Given the description of an element on the screen output the (x, y) to click on. 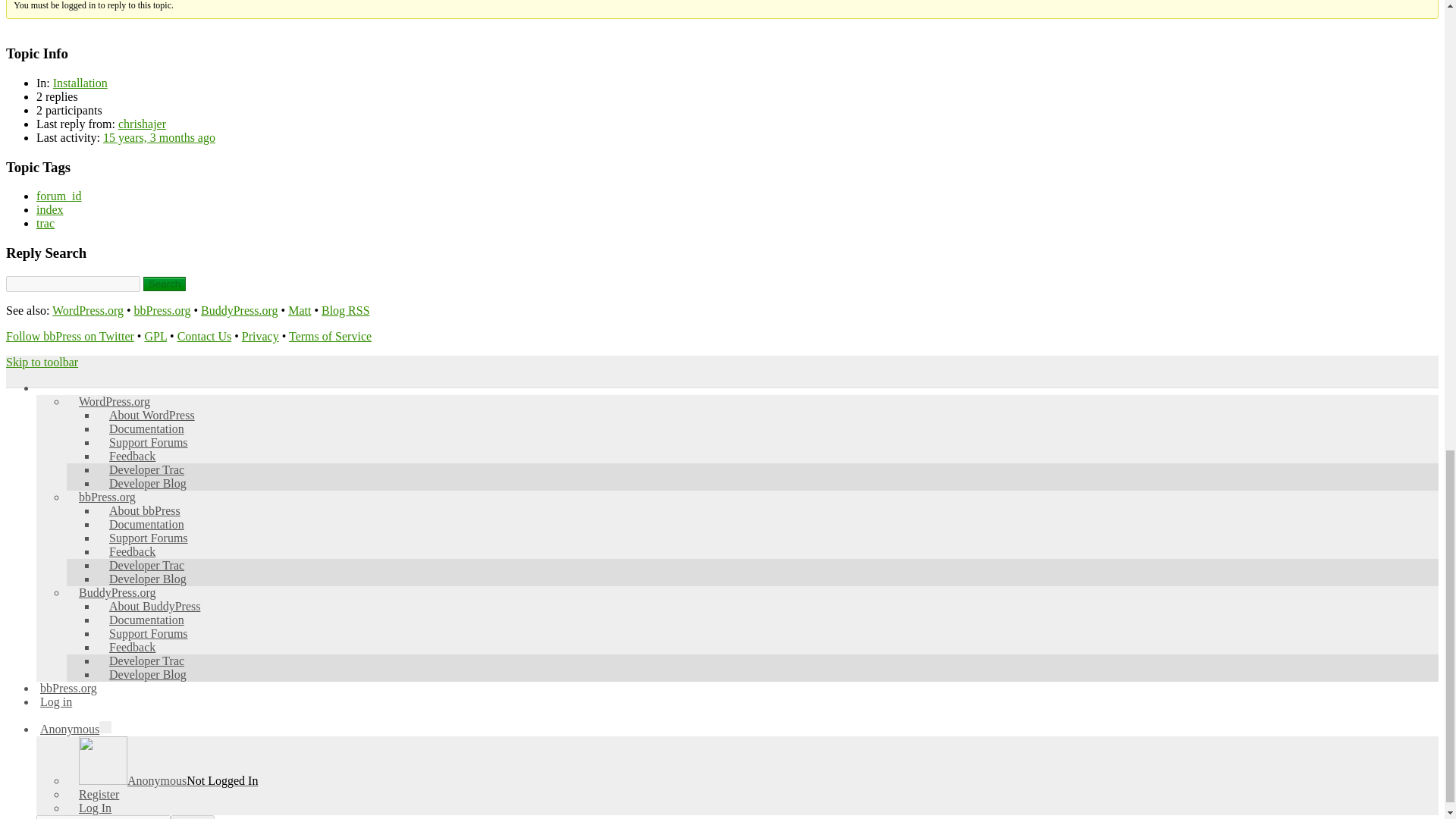
Matt (299, 309)
Privacy (260, 336)
Installation (79, 82)
bbPress.org (161, 309)
Follow bbPress on Twitter (69, 336)
Blog RSS (345, 309)
15 years, 3 months ago (159, 137)
Contact Us (204, 336)
Search (164, 283)
Search (164, 283)
WordPress.org (87, 309)
chrishajer (141, 123)
GPL (155, 336)
trac (45, 223)
index (50, 209)
